Given the description of an element on the screen output the (x, y) to click on. 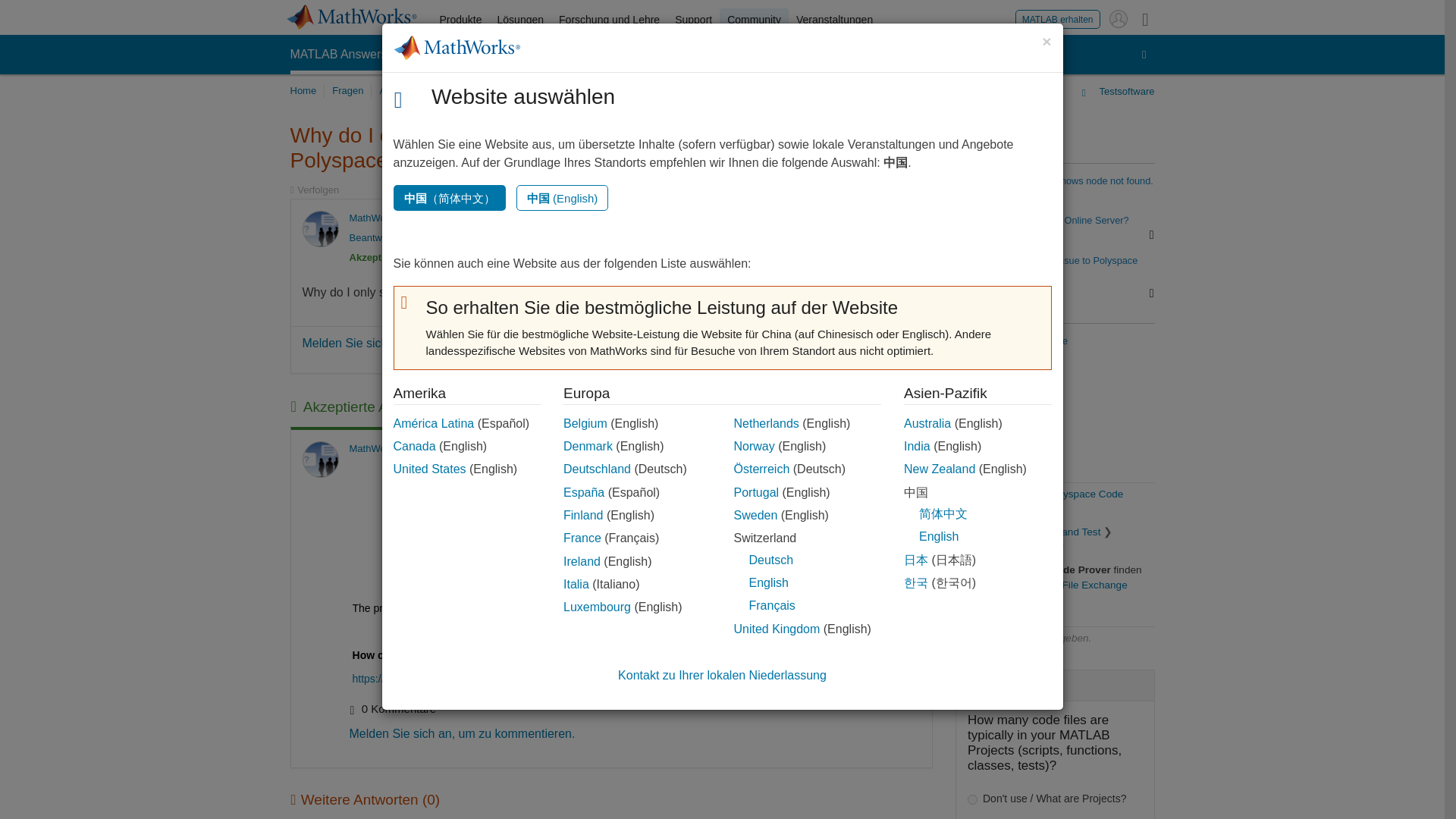
MATLAB erhalten (1057, 18)
Support (692, 19)
Produkte (460, 19)
Veranstaltungen (834, 19)
Community (754, 19)
Melden Sie sich bei Ihrem MathWorks Konto an (1117, 18)
Direkter Link zu dieser Antwort (805, 448)
Forschung und Lehre (608, 19)
Direkter Link zu dieser Frage (805, 216)
